Given the description of an element on the screen output the (x, y) to click on. 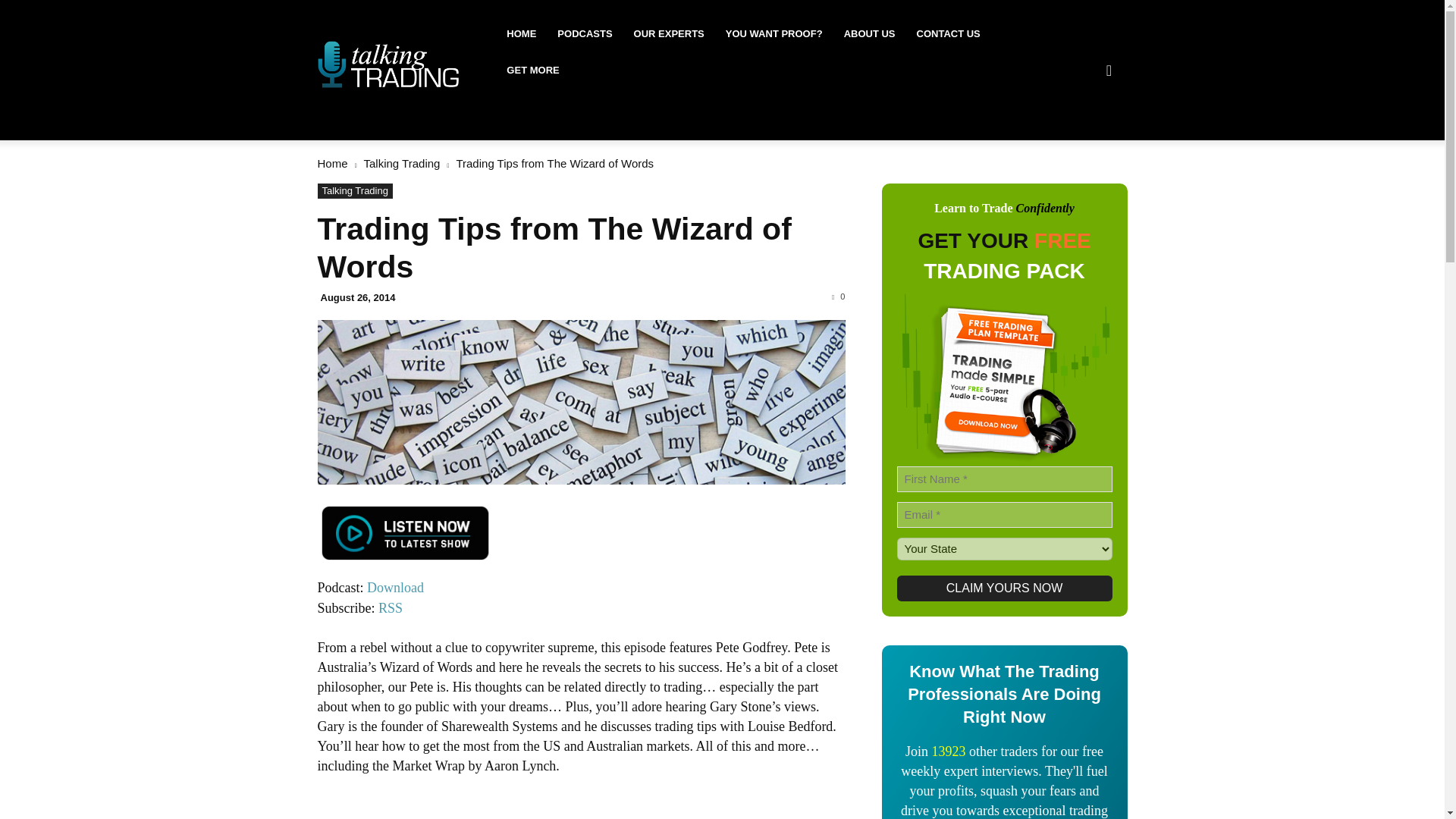
View all posts in Talking Trading (402, 163)
CLAIM YOURS NOW (1004, 588)
Trading Tips from The Wizard of Words (553, 247)
Play (404, 532)
Download (394, 587)
Play (404, 541)
Trading Tips from The Wizard of Words (580, 402)
